Given the description of an element on the screen output the (x, y) to click on. 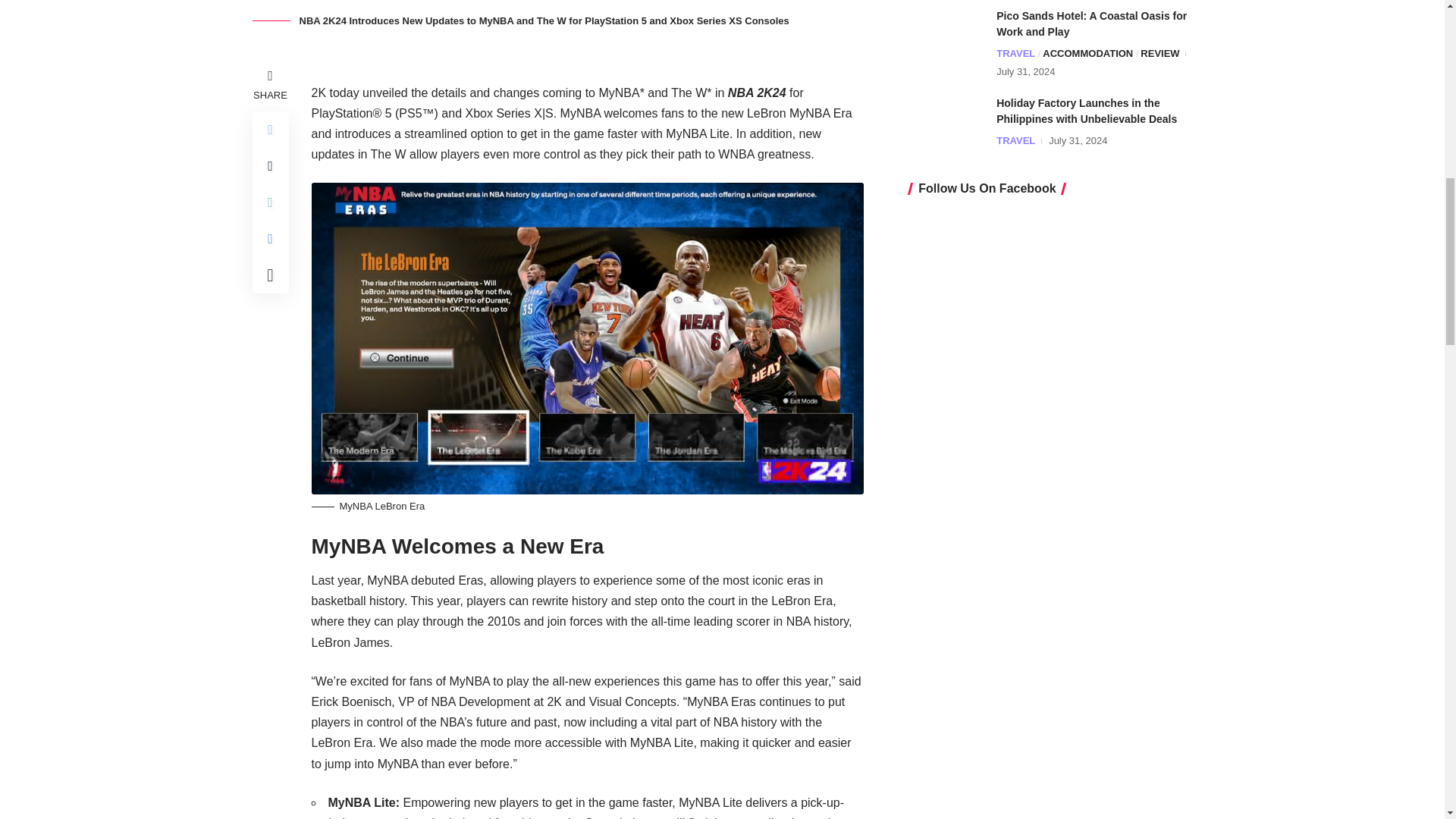
Pico Sands Hotel: A Coastal Oasis for Work and Play (946, 36)
